Given the description of an element on the screen output the (x, y) to click on. 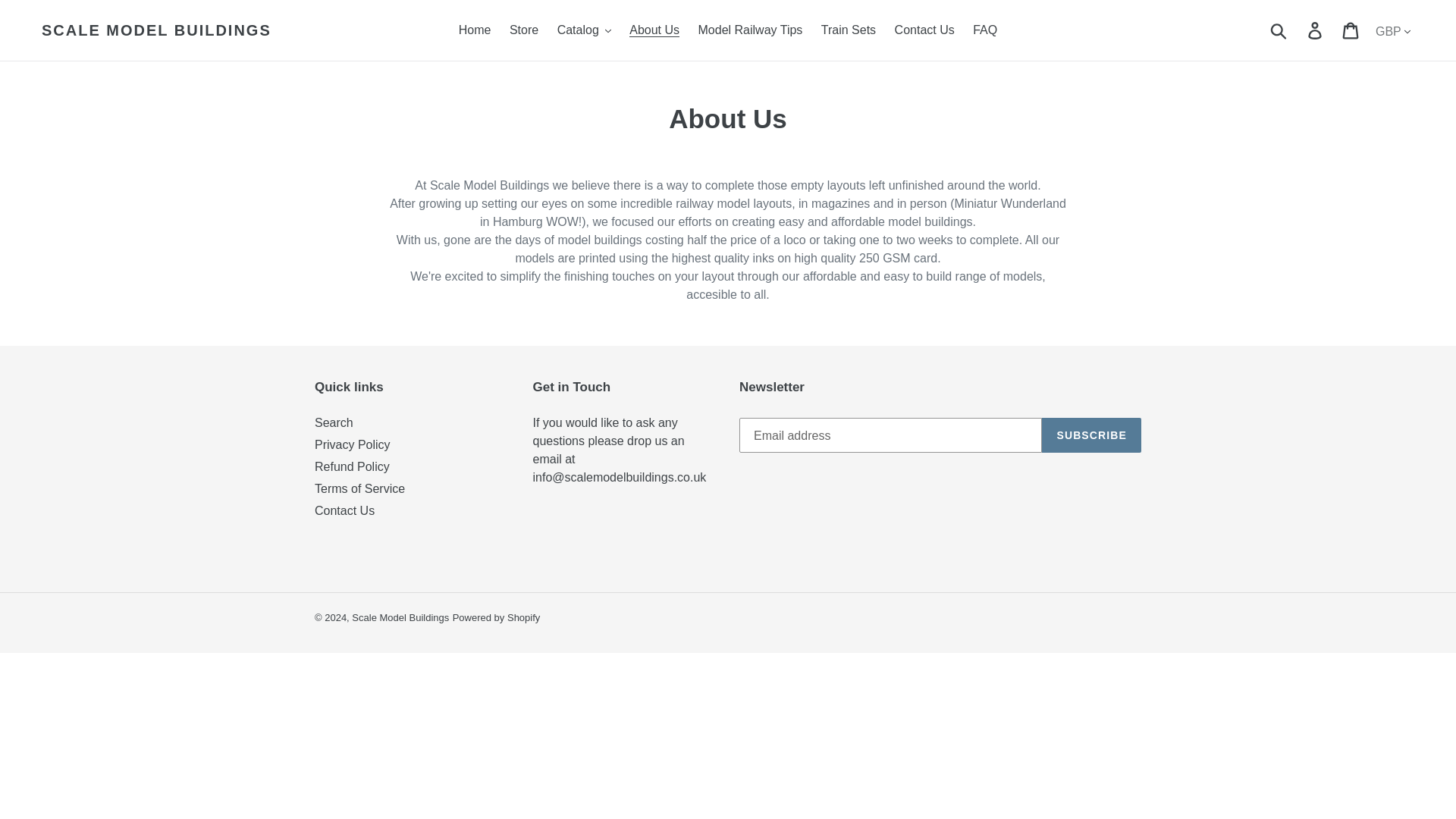
Model Railway Tips (750, 29)
SCALE MODEL BUILDINGS (156, 30)
Store (524, 29)
Home (475, 29)
FAQ (984, 29)
Log in (1315, 29)
Submit (1279, 29)
Cart (1351, 29)
About Us (654, 29)
Train Sets (848, 29)
